Given the description of an element on the screen output the (x, y) to click on. 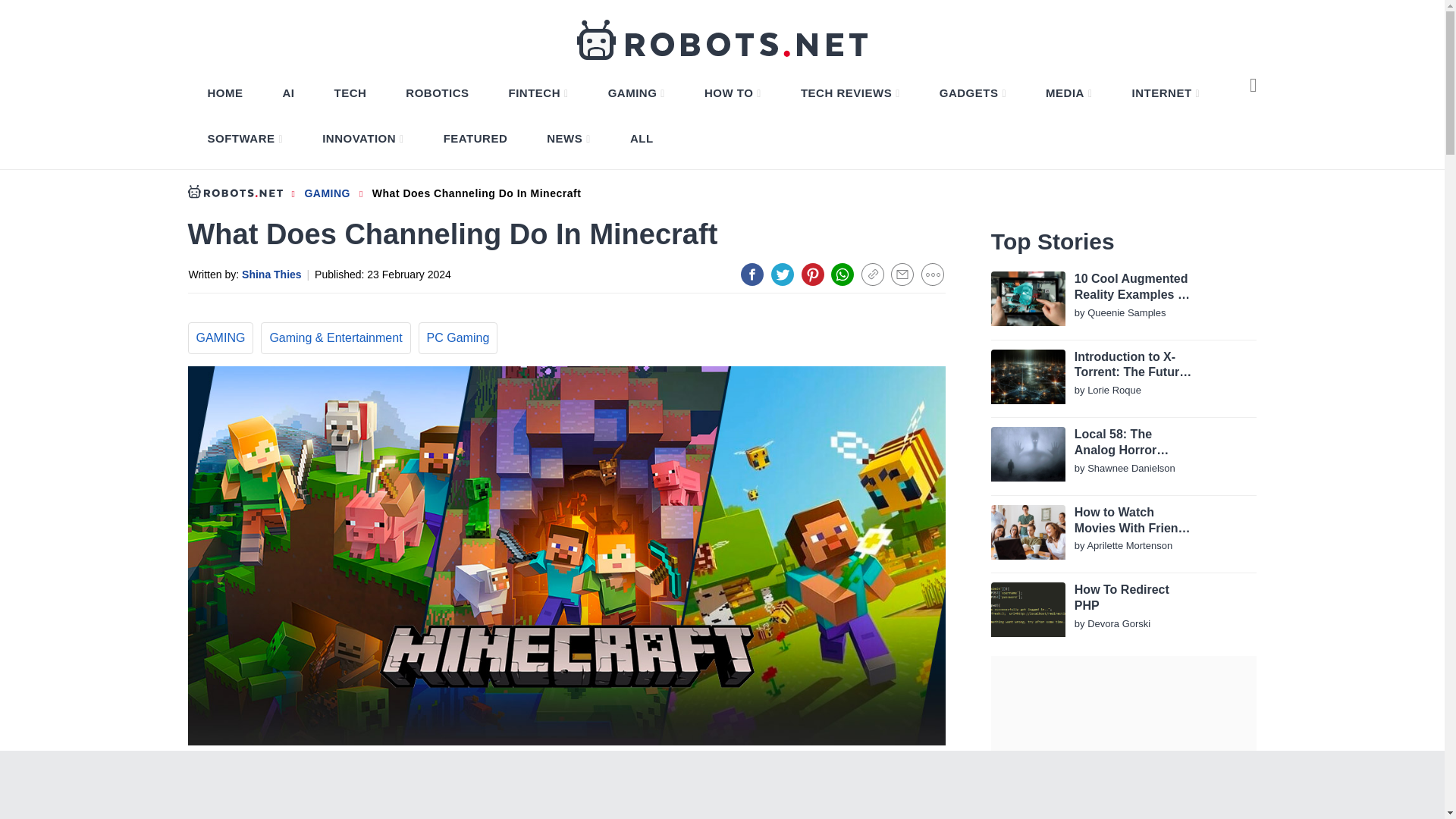
HOME (225, 93)
GADGETS (972, 93)
HOW TO (732, 93)
Share on Pinterest (813, 273)
Copy to Clipboard (872, 273)
View Less (932, 273)
GAMING (635, 93)
AI (288, 93)
Mail the Link (902, 273)
Share on twitter (782, 273)
MEDIA (1068, 93)
FINTECH (538, 93)
Share on Whatsapp (842, 273)
ROBOTICS (436, 93)
TECH (350, 93)
